Given the description of an element on the screen output the (x, y) to click on. 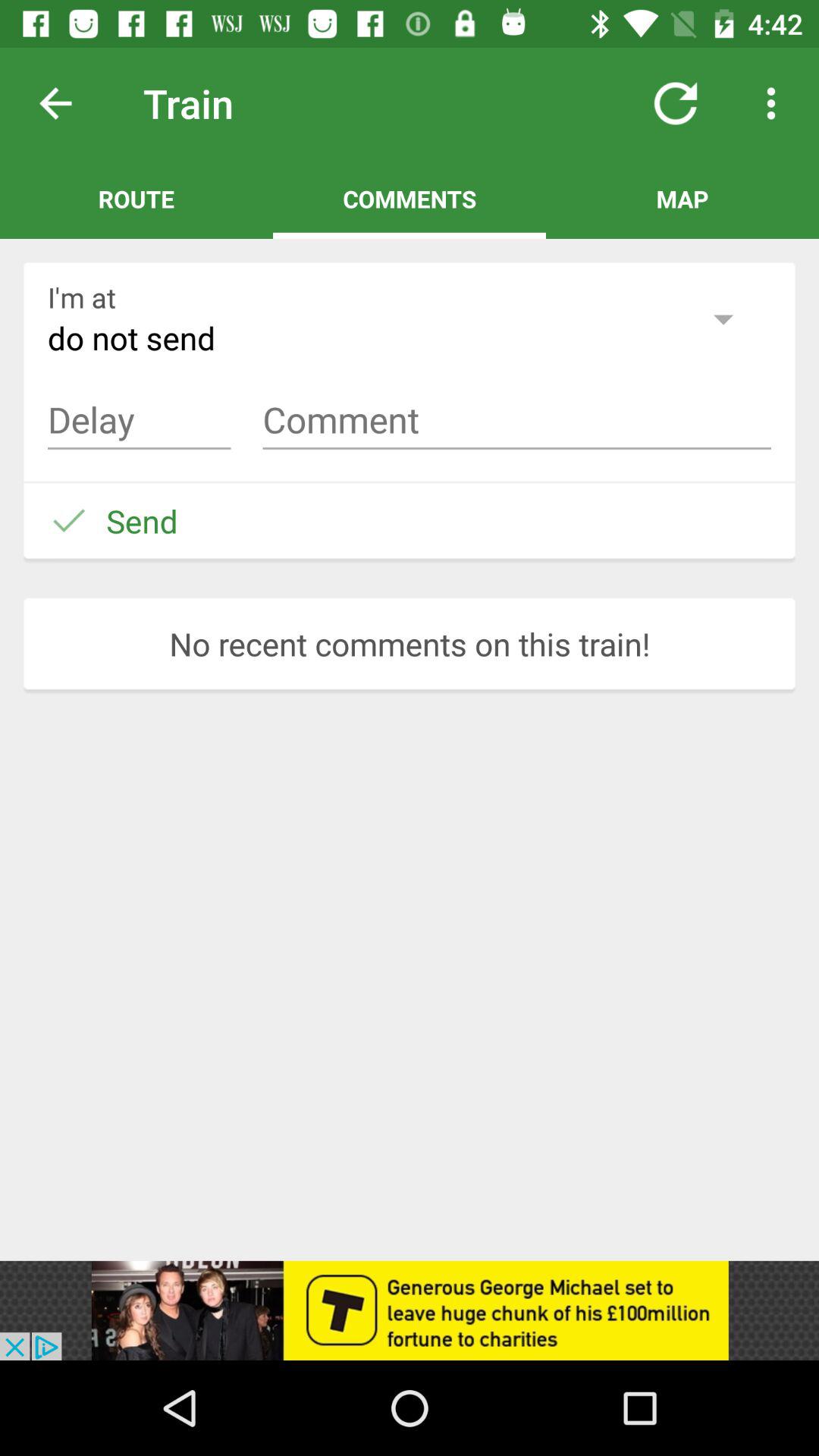
edit the delay section (138, 420)
